Given the description of an element on the screen output the (x, y) to click on. 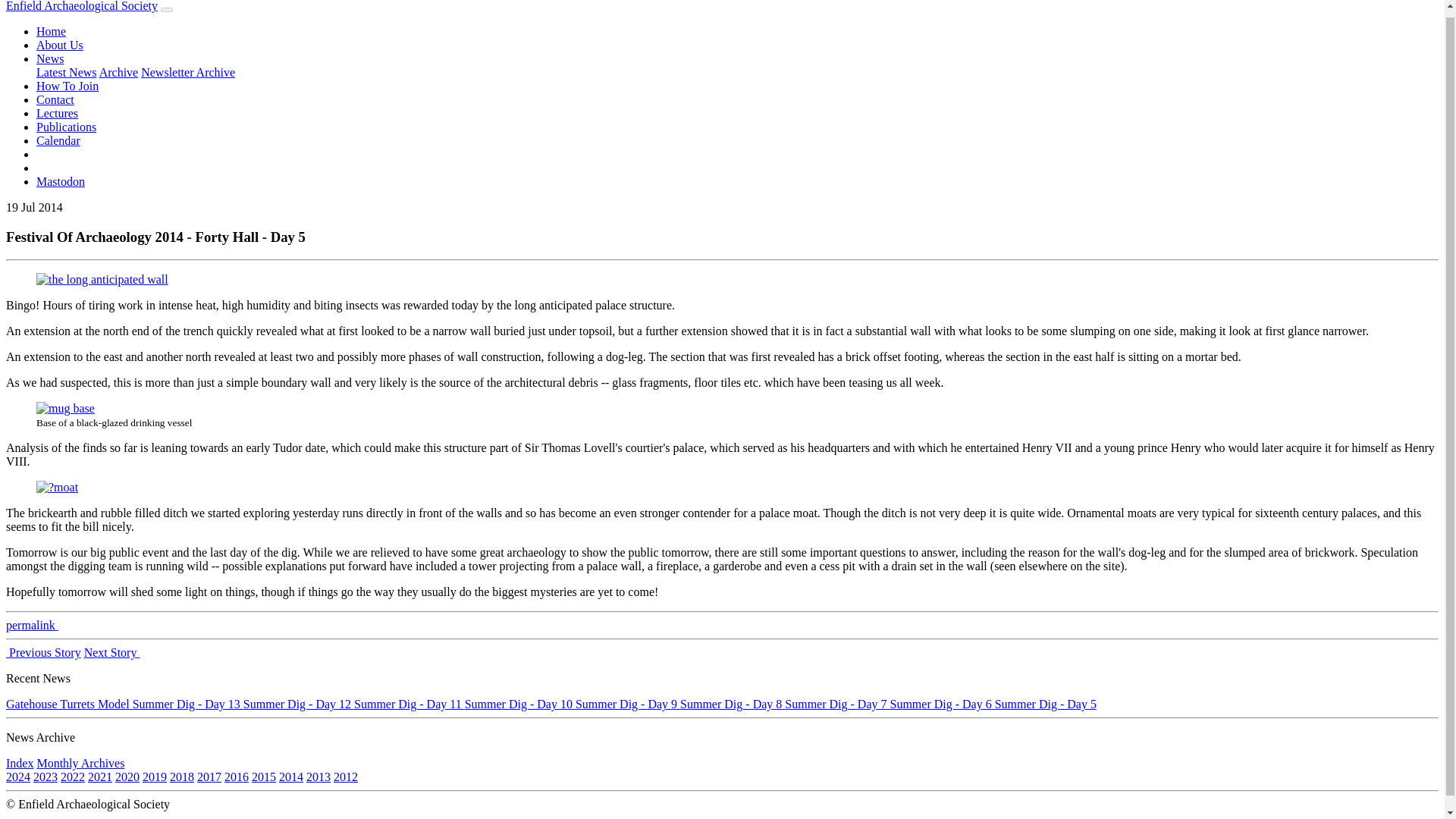
Next Story  (111, 652)
2023 (45, 776)
Enfield Archaeological Society (81, 6)
Monthly Archives (79, 762)
Newsletter Archive (187, 72)
Calendar (58, 140)
Summer Dig - Day 11 (408, 703)
2021 (99, 776)
 Previous Story (43, 652)
Summer Dig - Day 8 (731, 703)
